Given the description of an element on the screen output the (x, y) to click on. 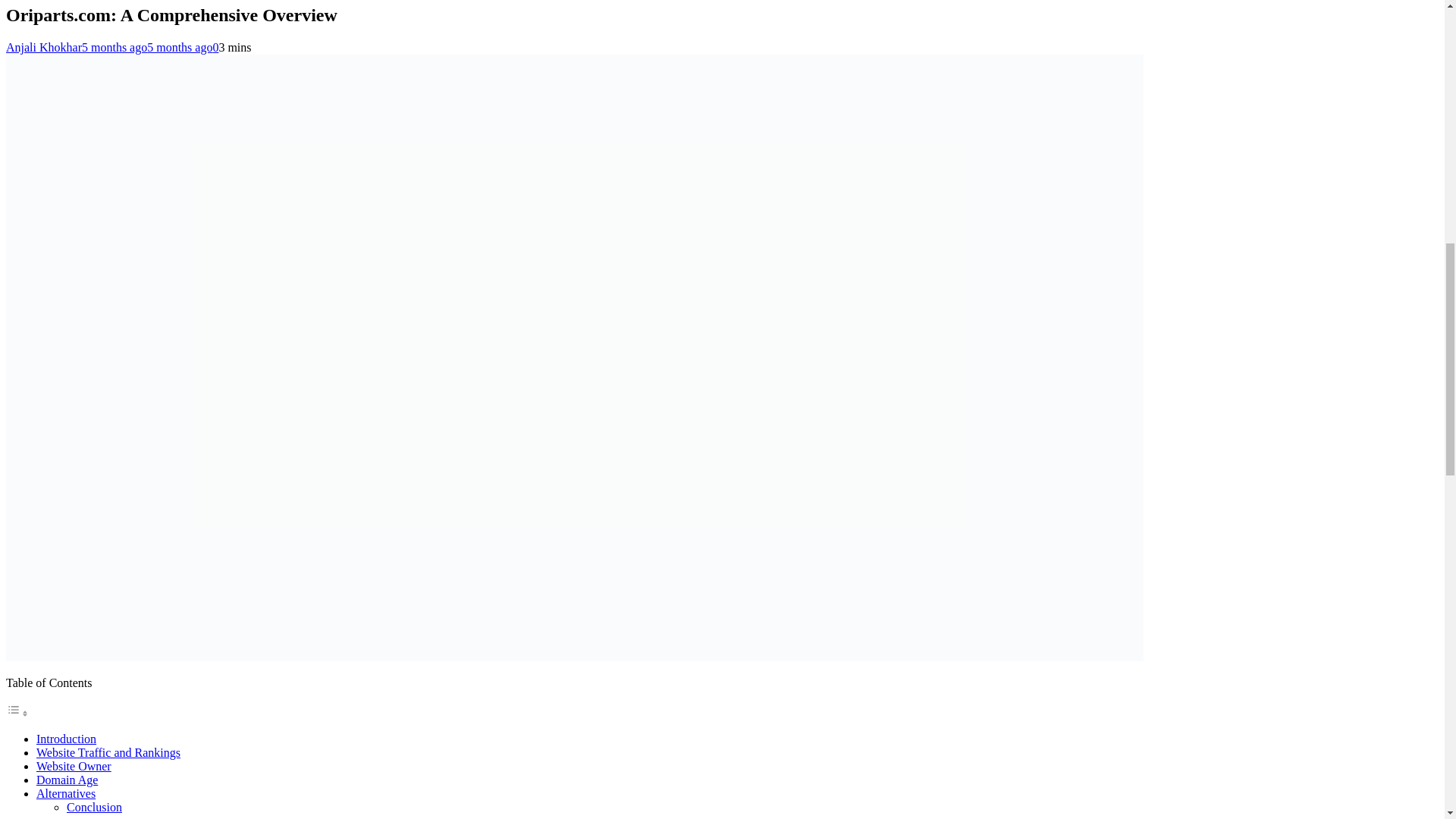
Alternatives (66, 793)
Website Owner (74, 766)
Introduction (66, 738)
5 months ago5 months ago (146, 47)
Domain Age (66, 779)
Conclusion (94, 807)
Website Traffic and Rankings (108, 752)
Anjali Khokhar (43, 47)
